Given the description of an element on the screen output the (x, y) to click on. 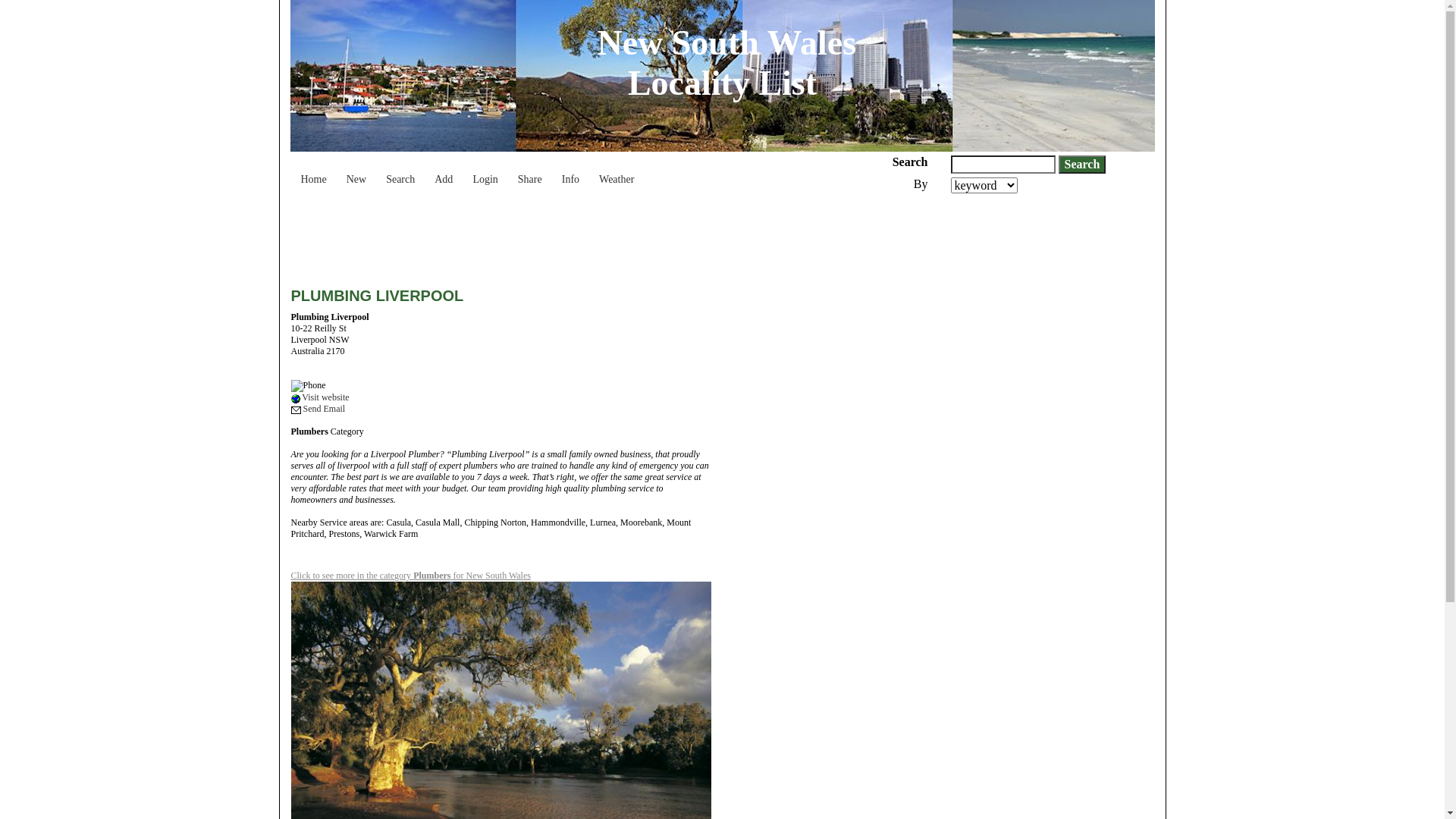
New Element type: text (356, 171)
Weather Element type: text (616, 171)
Home Element type: text (313, 171)
Visit website Element type: text (320, 397)
Share Element type: text (530, 171)
Add Element type: text (443, 171)
Search Element type: text (400, 171)
Advertisement Element type: hover (567, 234)
Login Element type: text (484, 171)
Visit Website Element type: hover (295, 398)
Advertisement Element type: hover (1015, 565)
Send Email Element type: text (318, 408)
Info Element type: text (570, 171)
Search Element type: text (1082, 164)
